Given the description of an element on the screen output the (x, y) to click on. 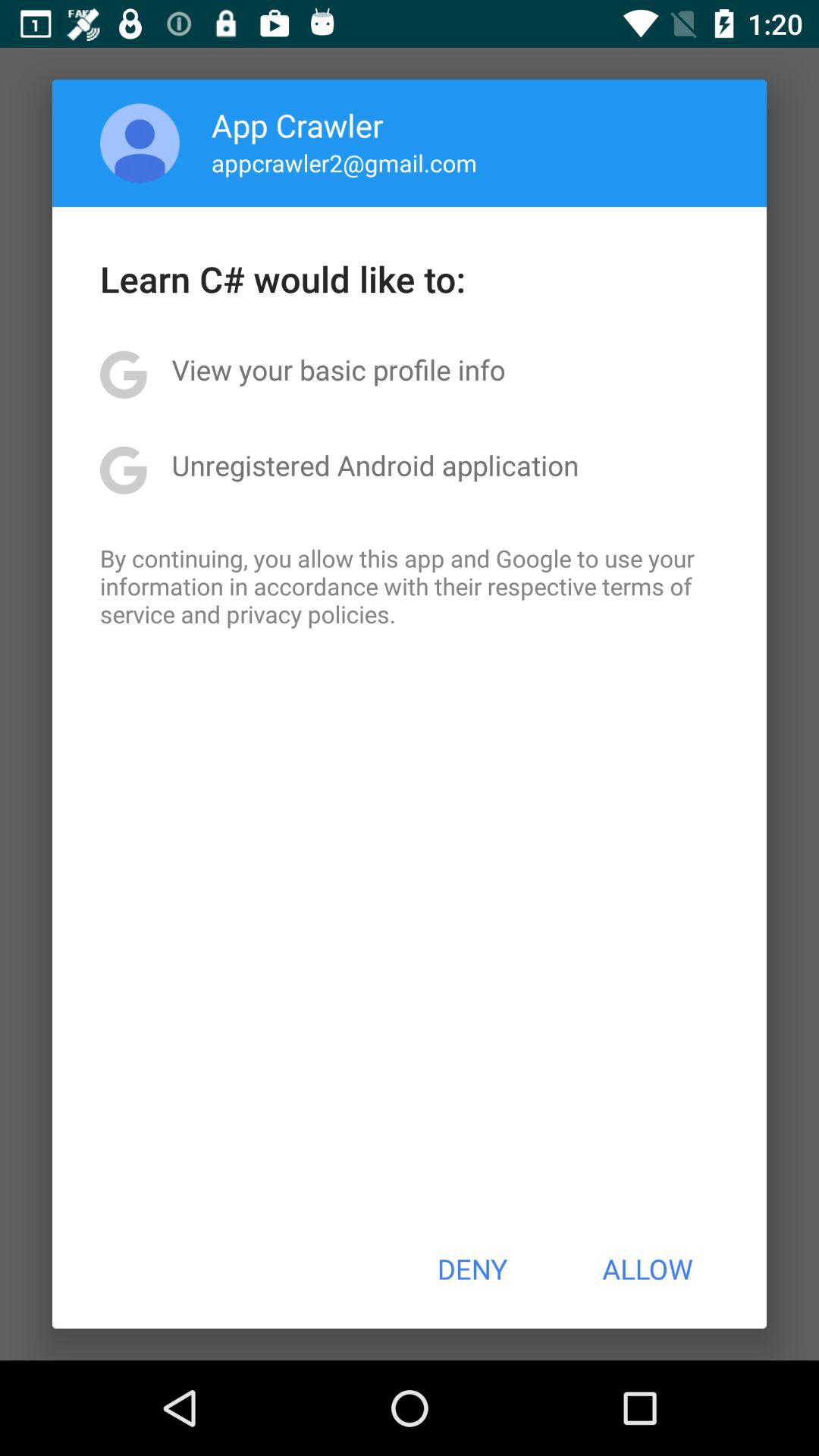
open the appcrawler2@gmail.com (344, 162)
